Given the description of an element on the screen output the (x, y) to click on. 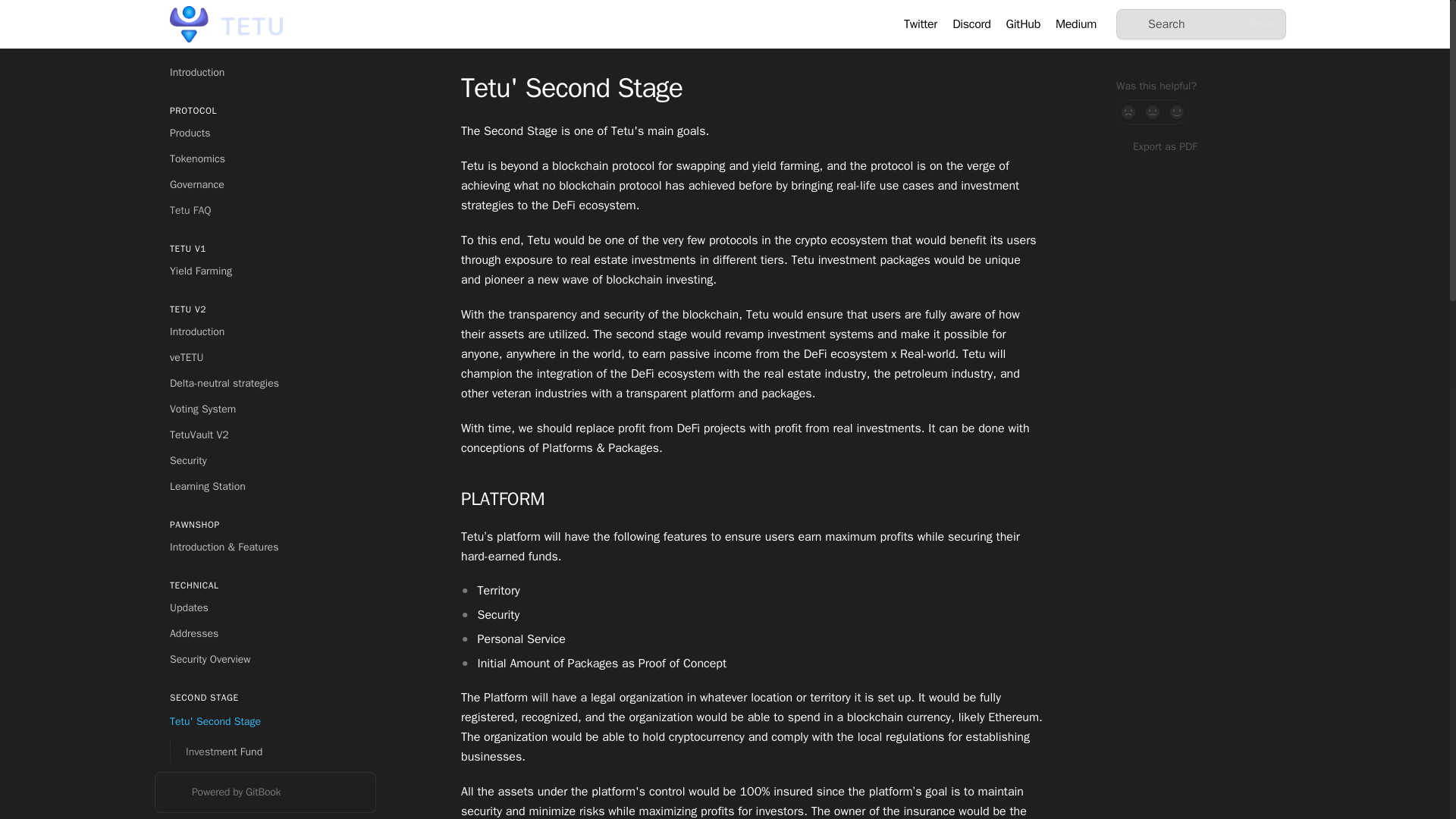
Introduction (264, 72)
No (1128, 111)
Tokenomics (264, 159)
Yes, it was! (1176, 111)
Yield Farming (264, 271)
Introduction (264, 331)
Tetu FAQ (264, 210)
Governance (264, 184)
veTETU (264, 357)
Products (264, 133)
